Given the description of an element on the screen output the (x, y) to click on. 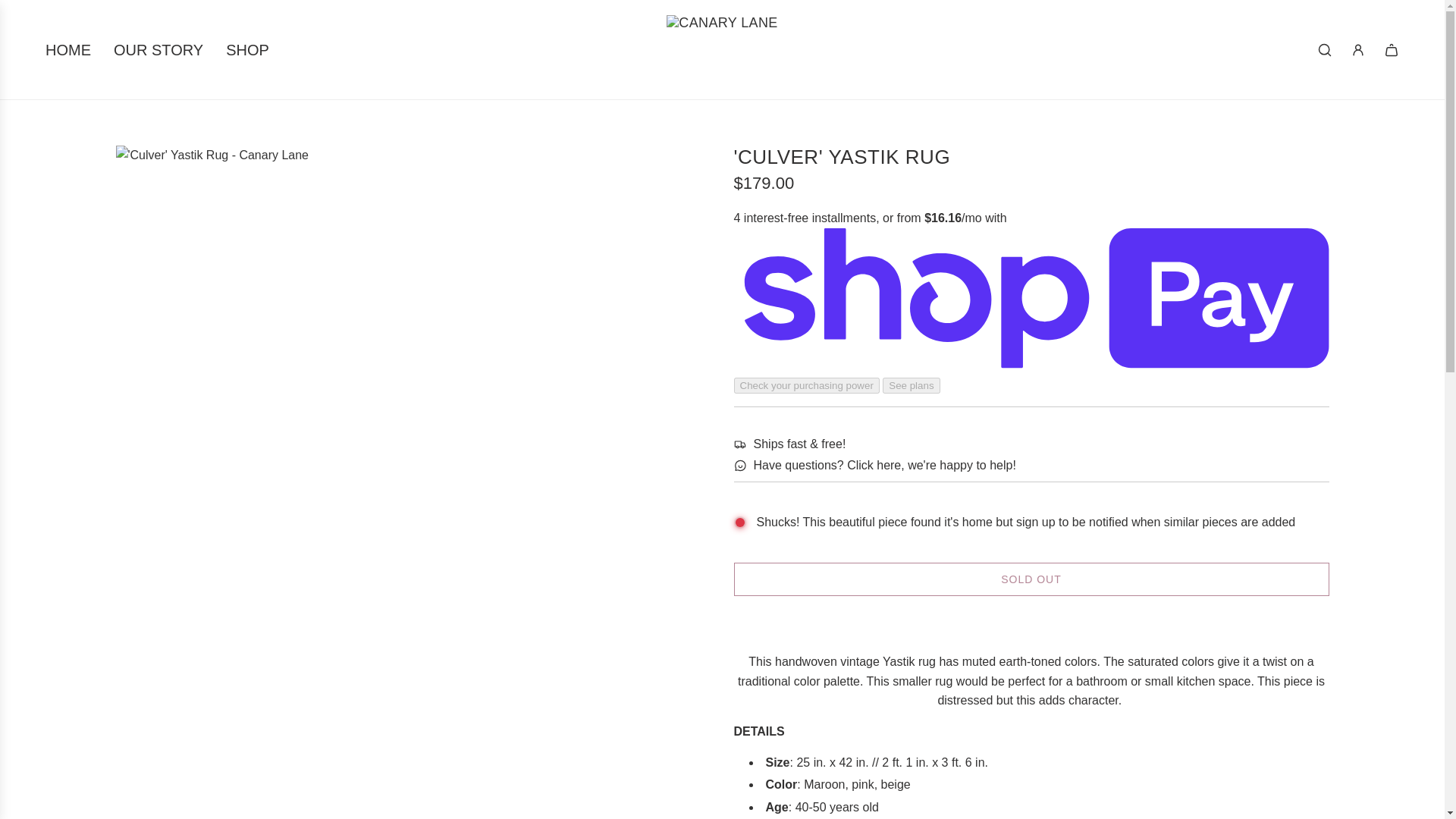
SHOP (247, 49)
HOME (67, 49)
OUR STORY (158, 49)
